Given the description of an element on the screen output the (x, y) to click on. 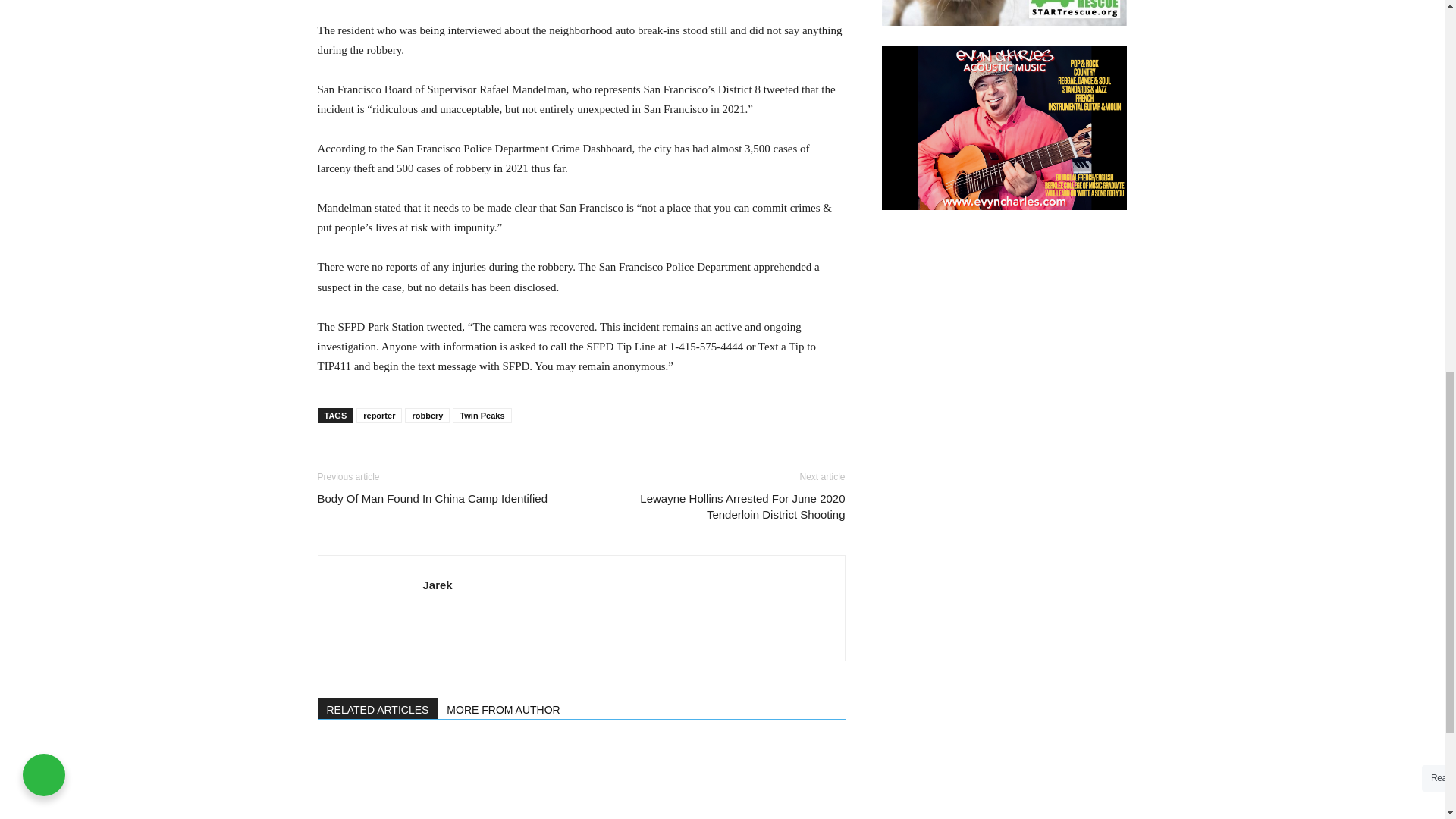
Actor James B. Sikking Dies At 90 (399, 780)
DMCA.com Protection Status (926, 808)
Suspects Identified In Series Of Home Invasions (761, 780)
bottomFacebookLike (430, 456)
